Given the description of an element on the screen output the (x, y) to click on. 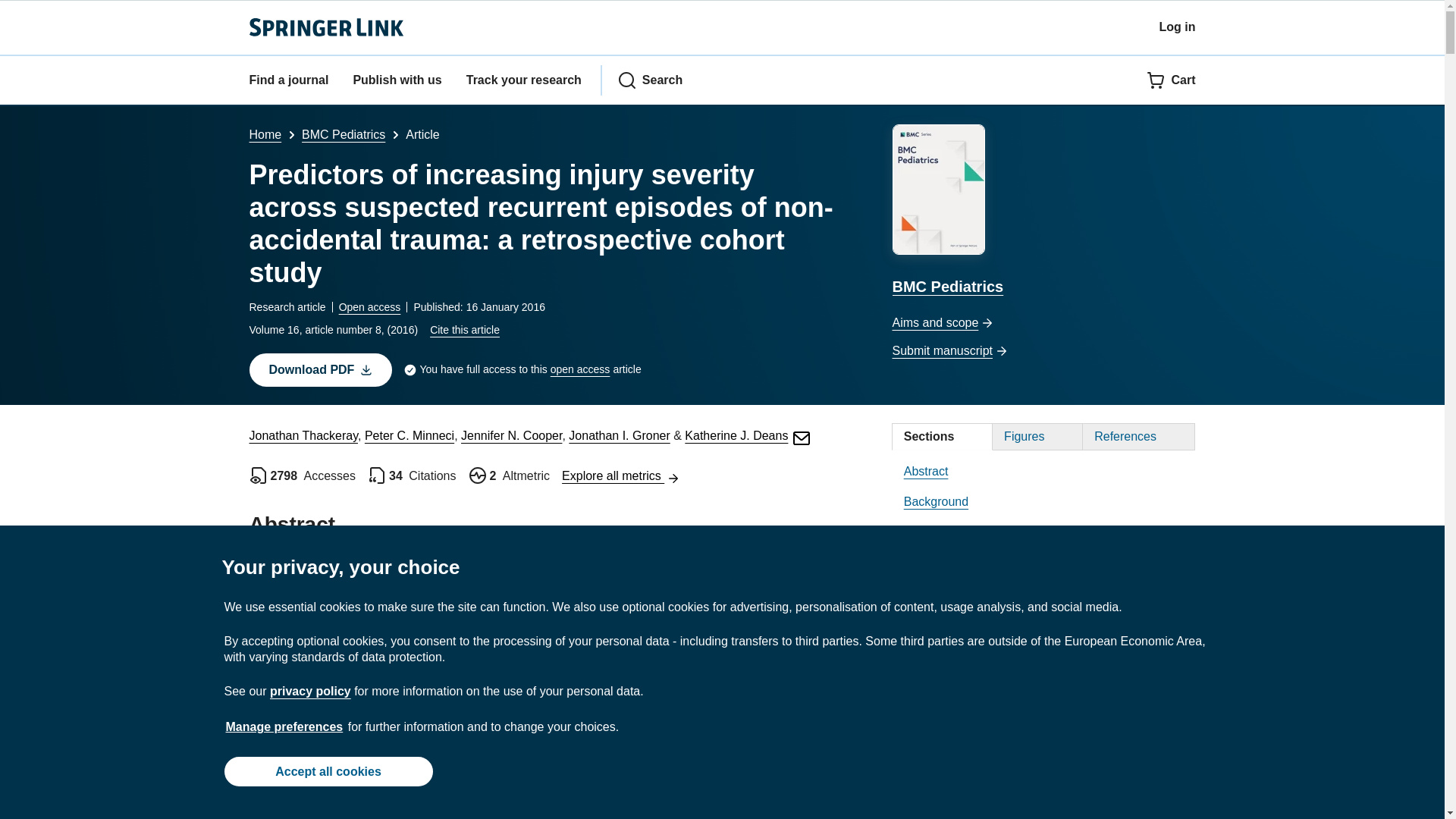
Log in (1177, 26)
Jonathan Thackeray (303, 435)
Katherine J. Deans (747, 435)
Explore all metrics (620, 475)
Home (264, 133)
Aims and scope (1043, 323)
Find a journal (288, 79)
Cart (1170, 79)
BMC Pediatrics (1043, 212)
Jennifer N. Cooper (511, 435)
open access (580, 369)
BMC Pediatrics (343, 133)
Open access (370, 306)
Accept all cookies (328, 771)
privacy policy (309, 690)
